Given the description of an element on the screen output the (x, y) to click on. 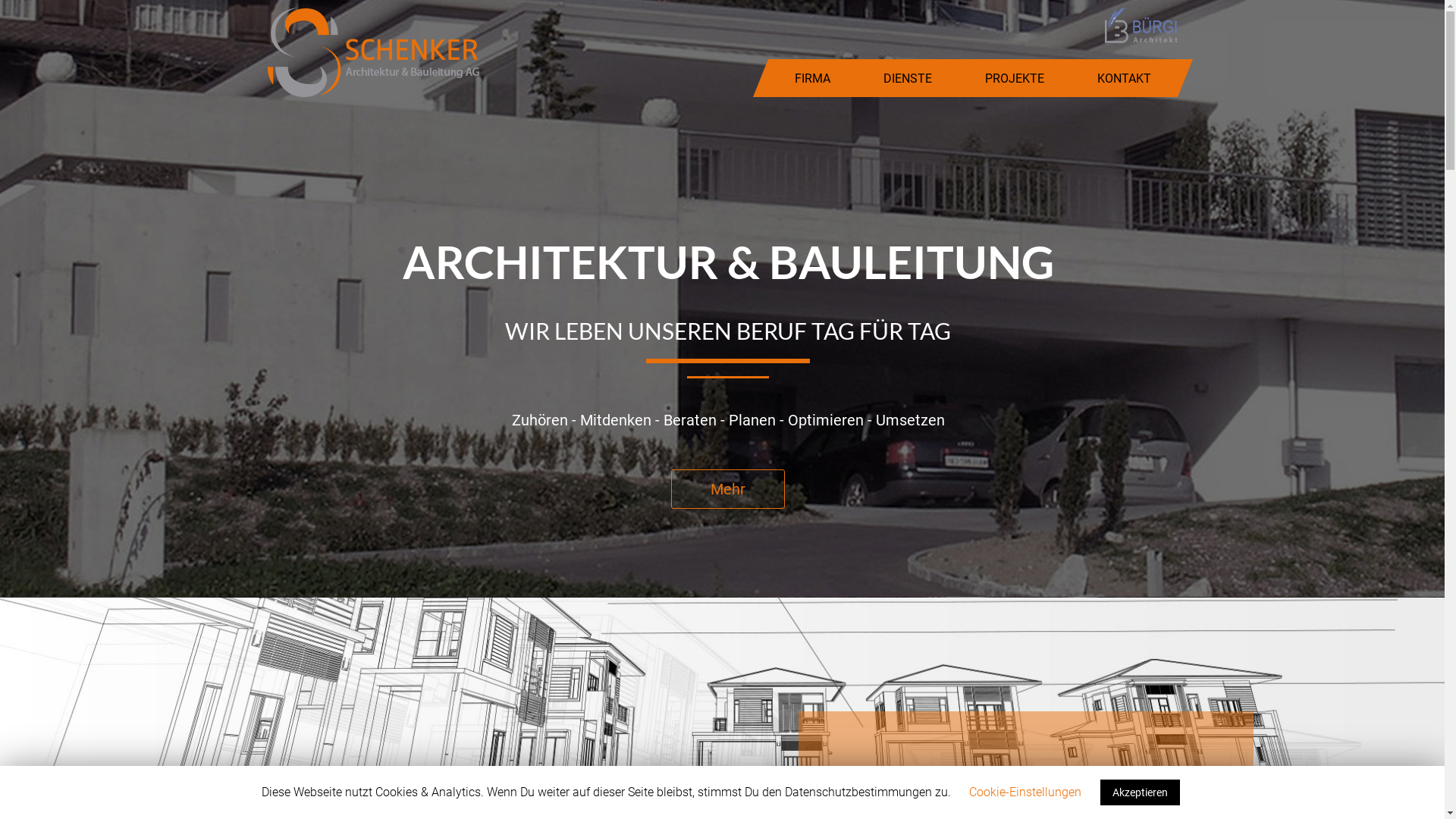
Schenker Architektur & Bauleitung AG Element type: hover (372, 50)
KONTAKT Element type: text (1123, 78)
Cookie-Einstellungen Element type: text (1025, 791)
Mehr Element type: text (727, 488)
Akzeptieren Element type: text (1139, 792)
FIRMA Element type: text (811, 78)
PROJEKTE Element type: text (1014, 78)
